Given the description of an element on the screen output the (x, y) to click on. 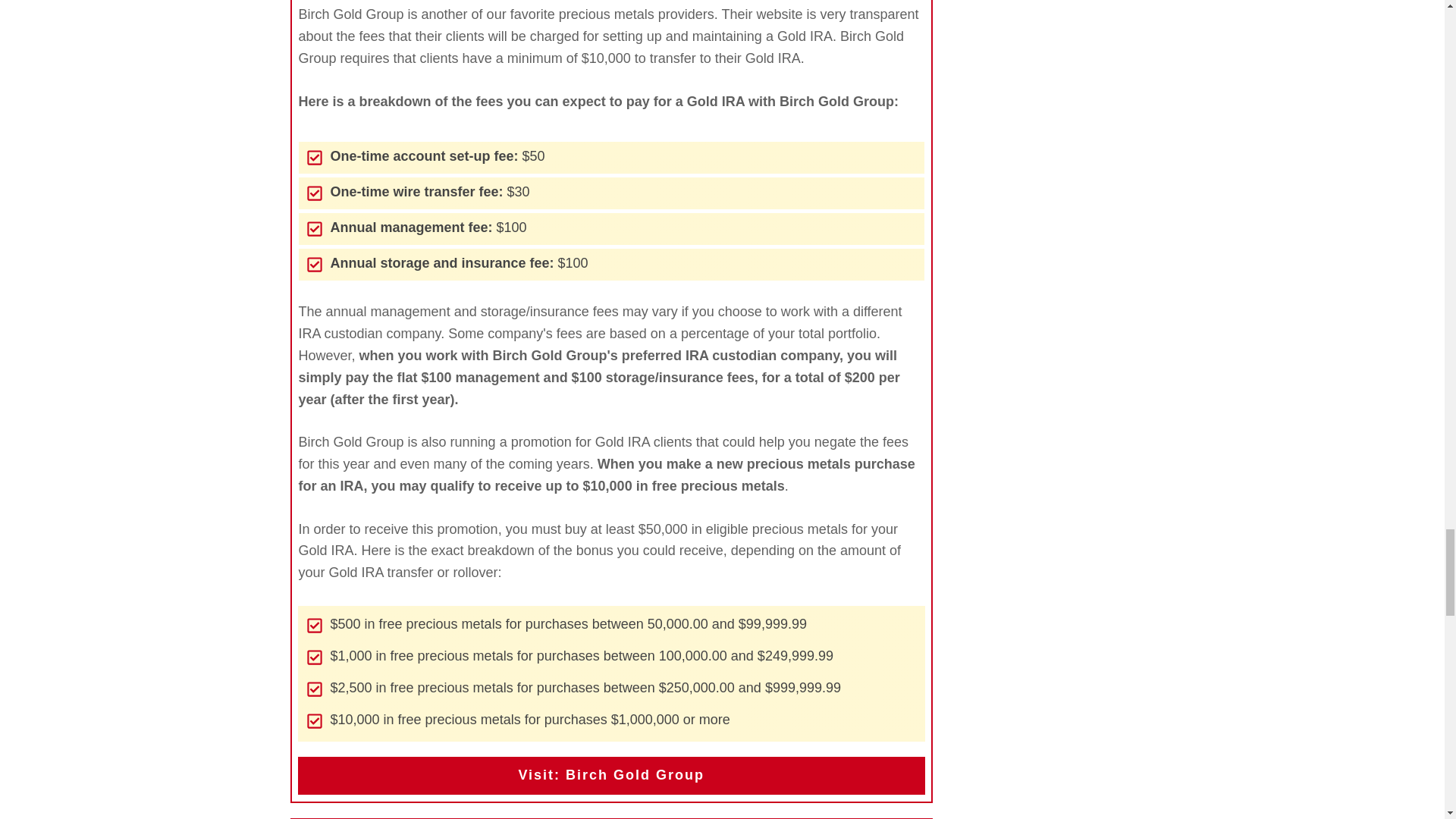
Visit: Birch Gold Group (610, 775)
